Given the description of an element on the screen output the (x, y) to click on. 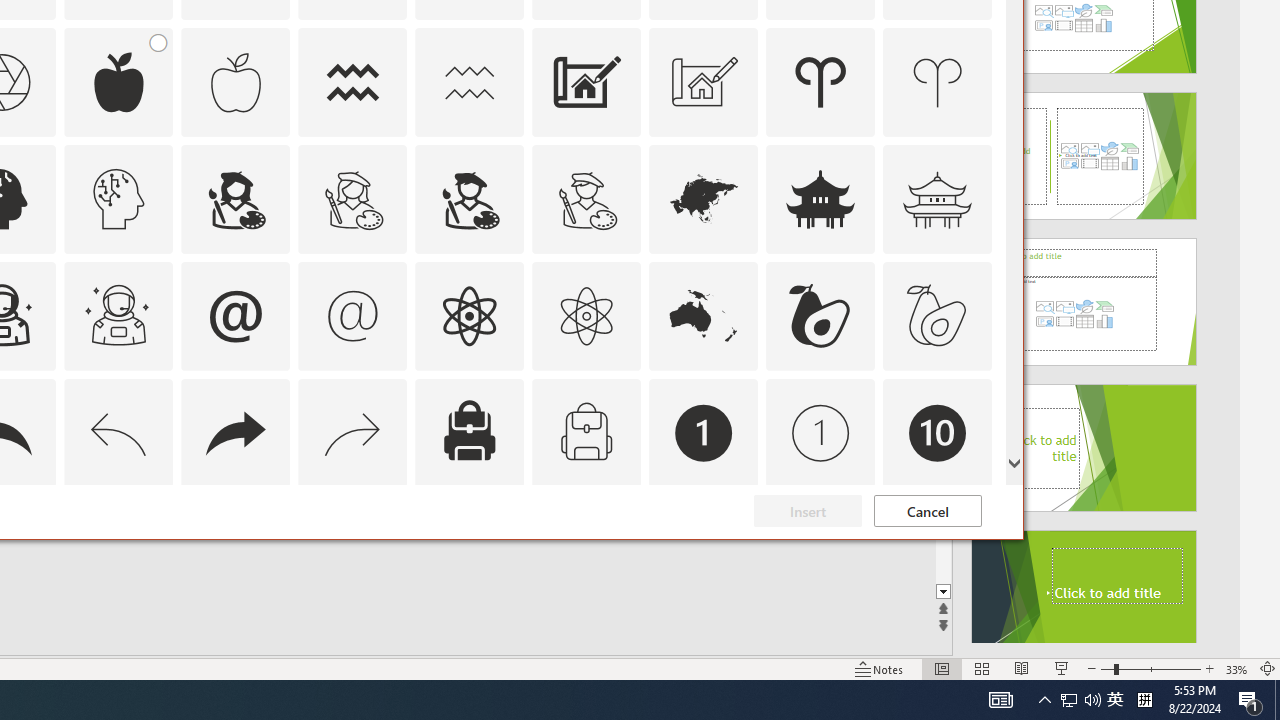
AutomationID: Icons_Back_RTL (235, 432)
AutomationID: Icons_ArtistMale (469, 198)
